Given the description of an element on the screen output the (x, y) to click on. 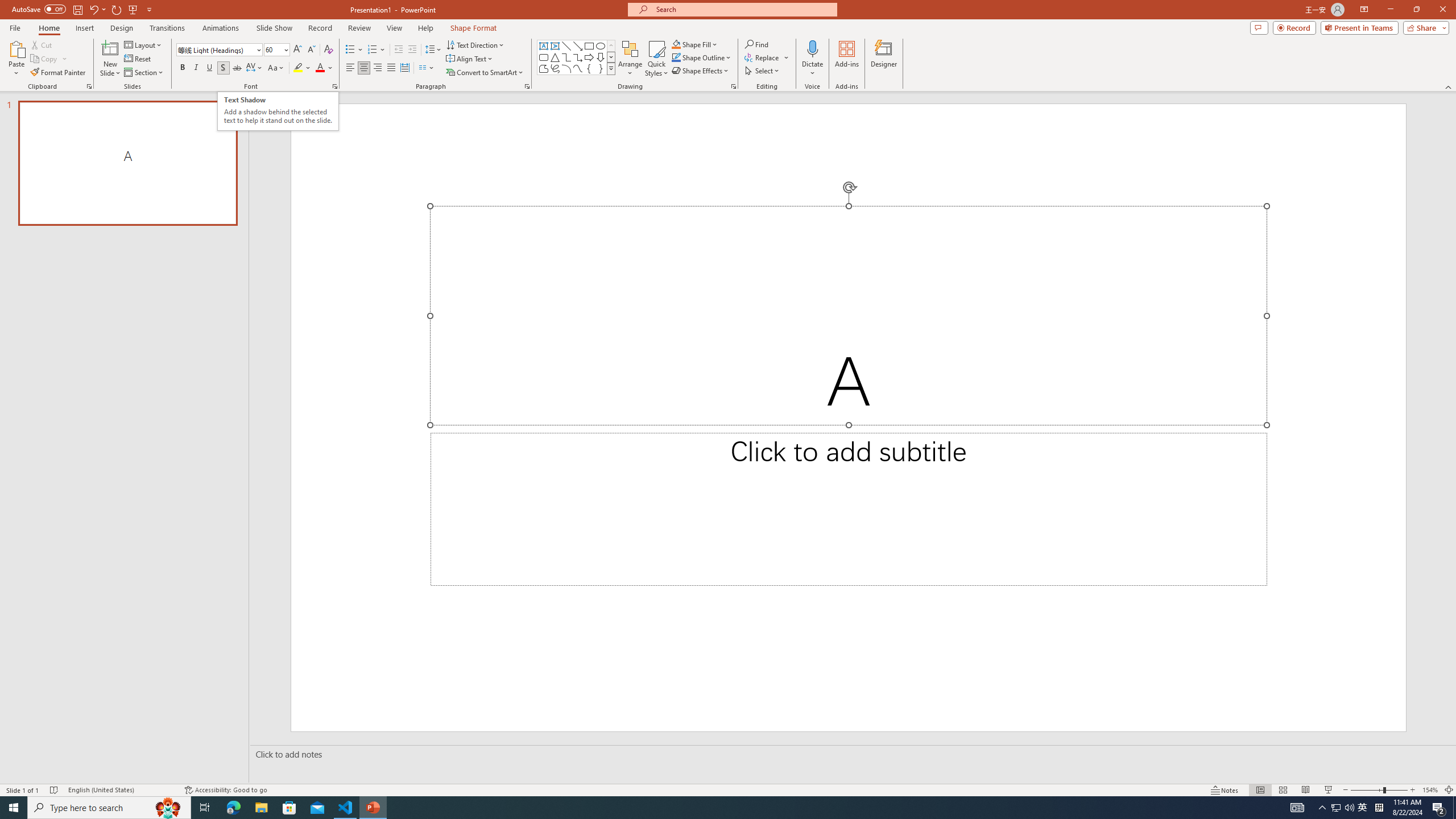
Zoom 154% (1430, 790)
